Given the description of an element on the screen output the (x, y) to click on. 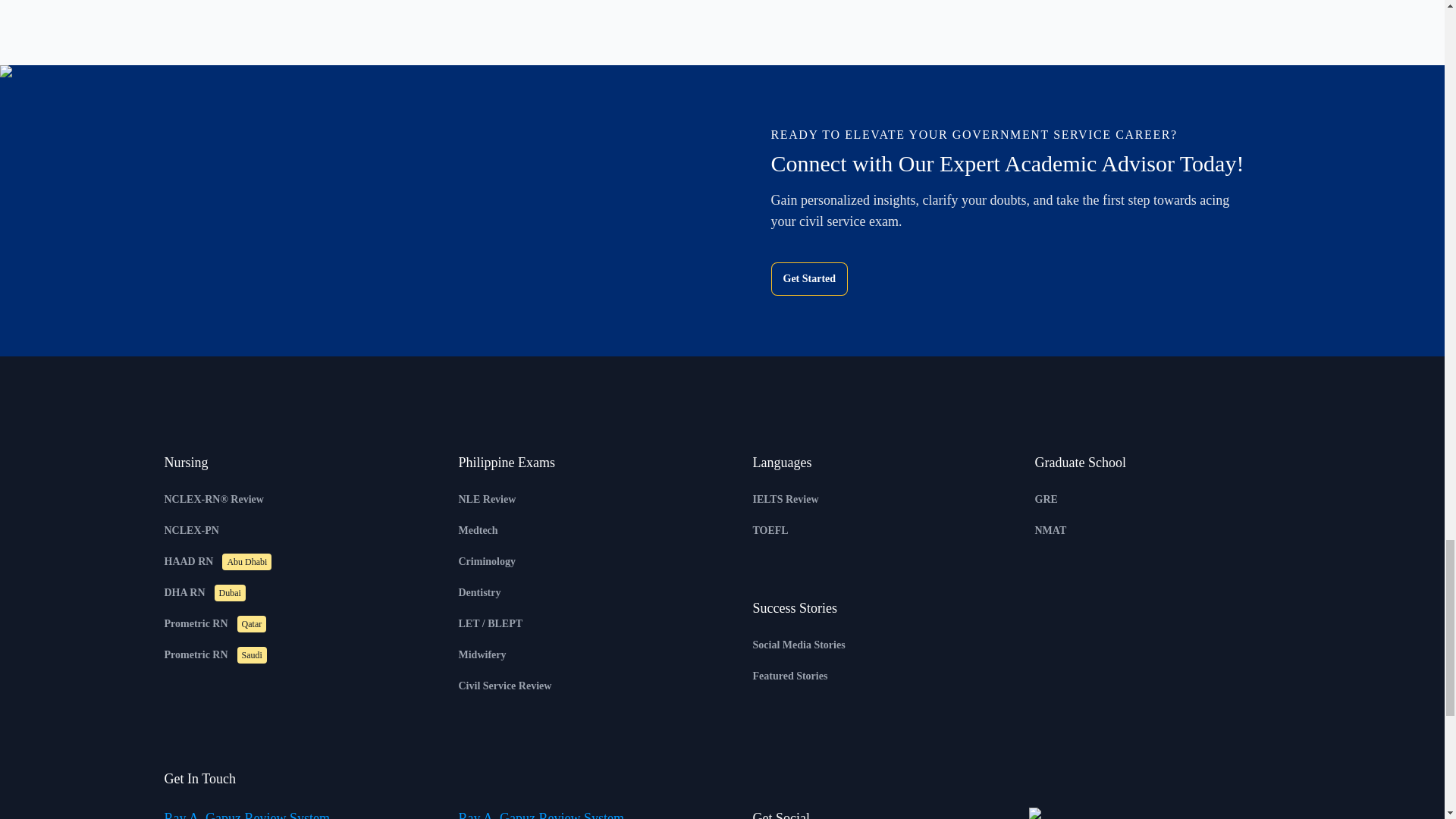
DHA RNDubai (203, 592)
Dentistry (479, 592)
NLE Review (486, 499)
Baguio City Headquarters (540, 814)
Medtech (477, 530)
GRE (1045, 499)
NCLEX-PN (190, 530)
Featured Stories (789, 675)
Midwifery (481, 654)
Ray A. Gapuz Review System (246, 814)
